Given the description of an element on the screen output the (x, y) to click on. 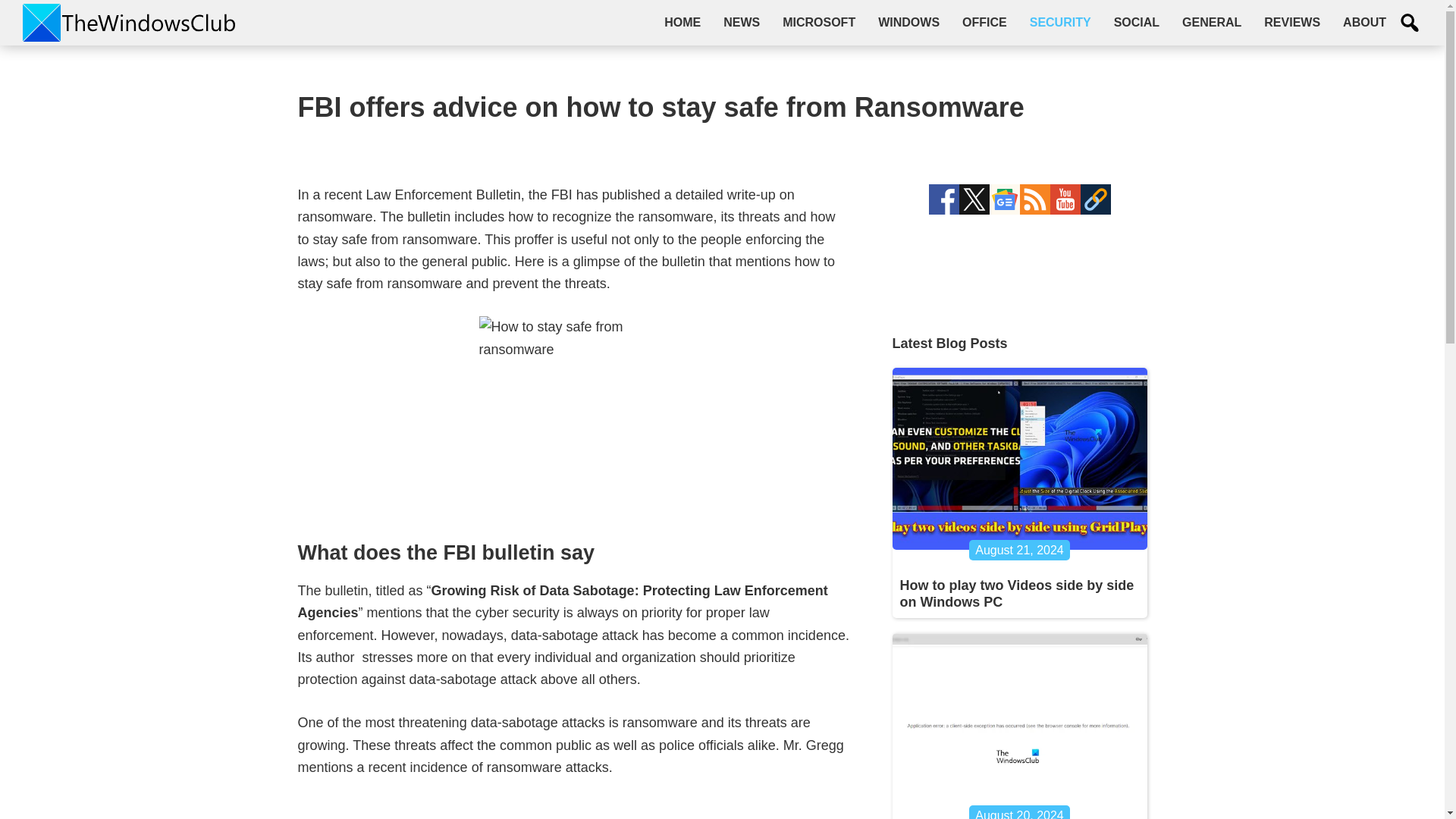
MICROSOFT (818, 22)
SOCIAL (1136, 22)
NEWS (741, 22)
GENERAL (1211, 22)
ABOUT (1364, 22)
OFFICE (983, 22)
Show Search (1409, 22)
How to play two Videos side by side on Windows PC (1016, 593)
REVIEWS (1292, 22)
